Given the description of an element on the screen output the (x, y) to click on. 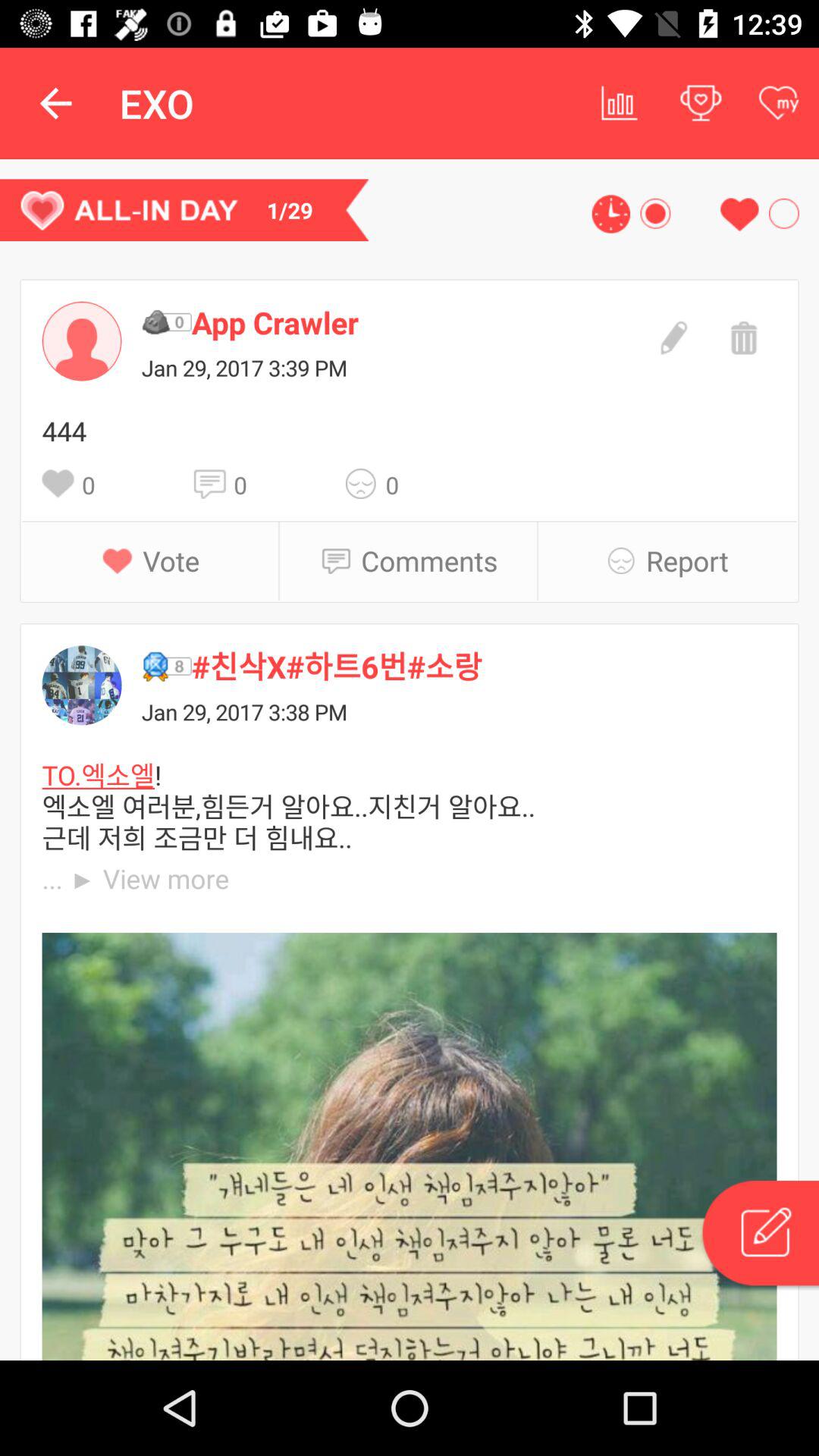
select item next to the vote item (122, 560)
